Given the description of an element on the screen output the (x, y) to click on. 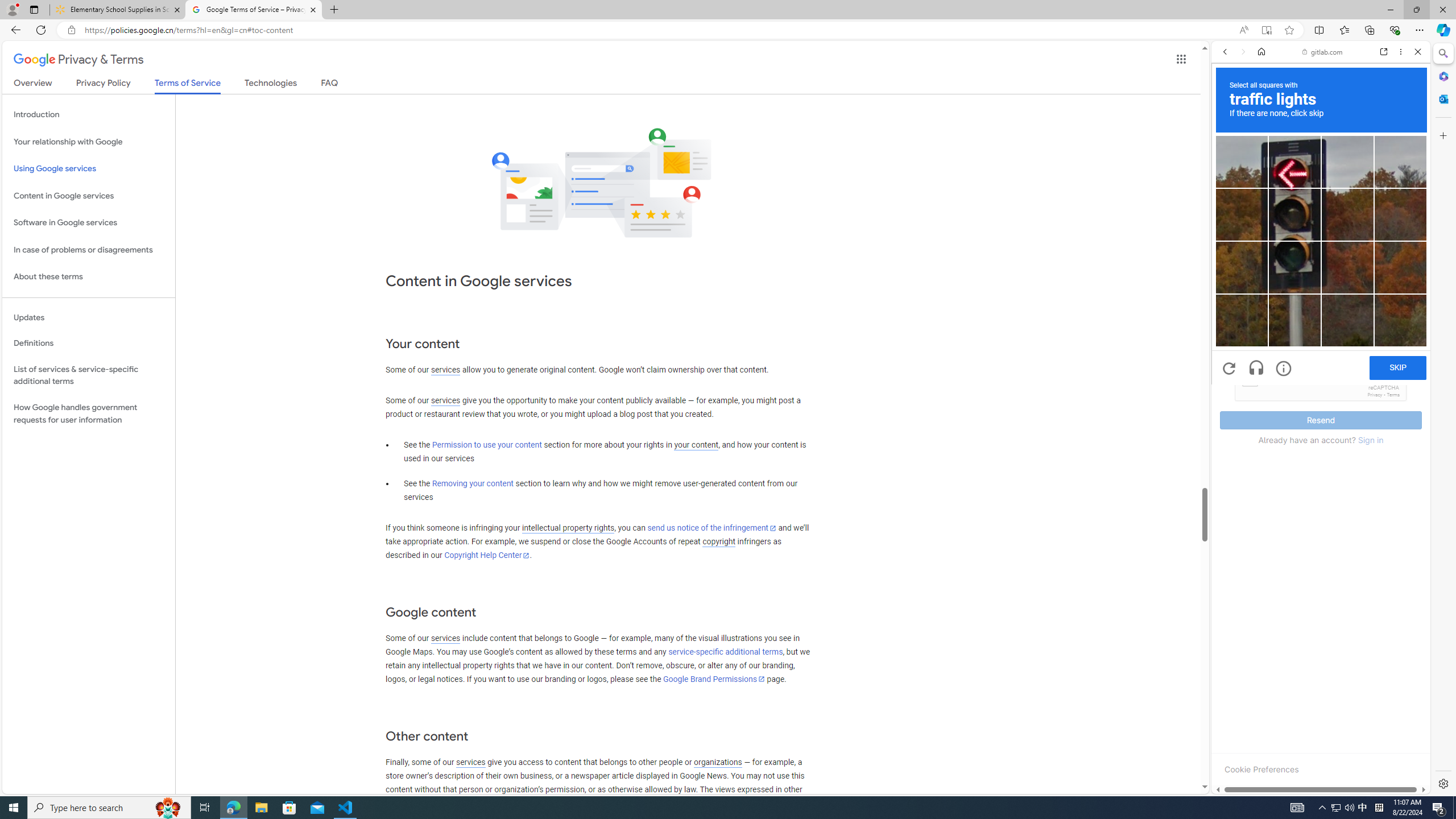
Dashboard (1320, 364)
ALL   (1228, 130)
gitlab.com (1323, 51)
I'm not a robot (1249, 378)
View details (1379, 555)
Login (1320, 281)
About GitLab (1320, 337)
